Given the description of an element on the screen output the (x, y) to click on. 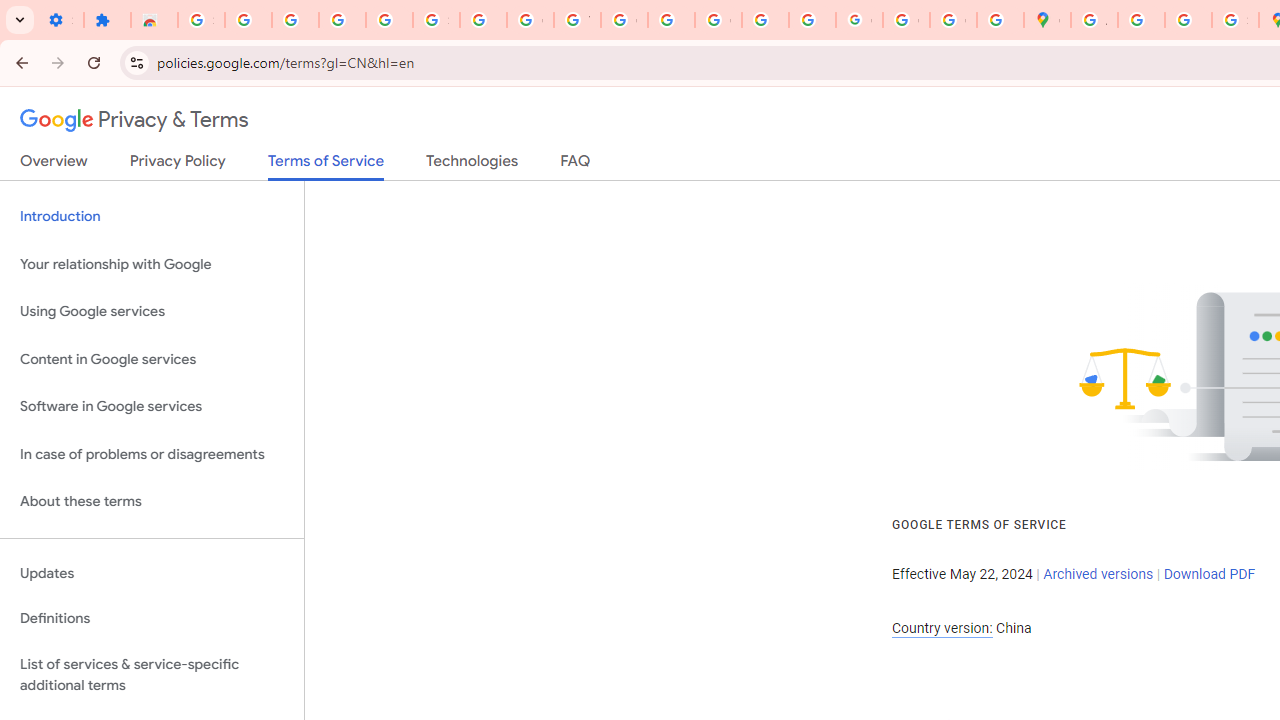
Archived versions (1098, 574)
https://scholar.google.com/ (671, 20)
Extensions (107, 20)
About these terms (152, 502)
